Given the description of an element on the screen output the (x, y) to click on. 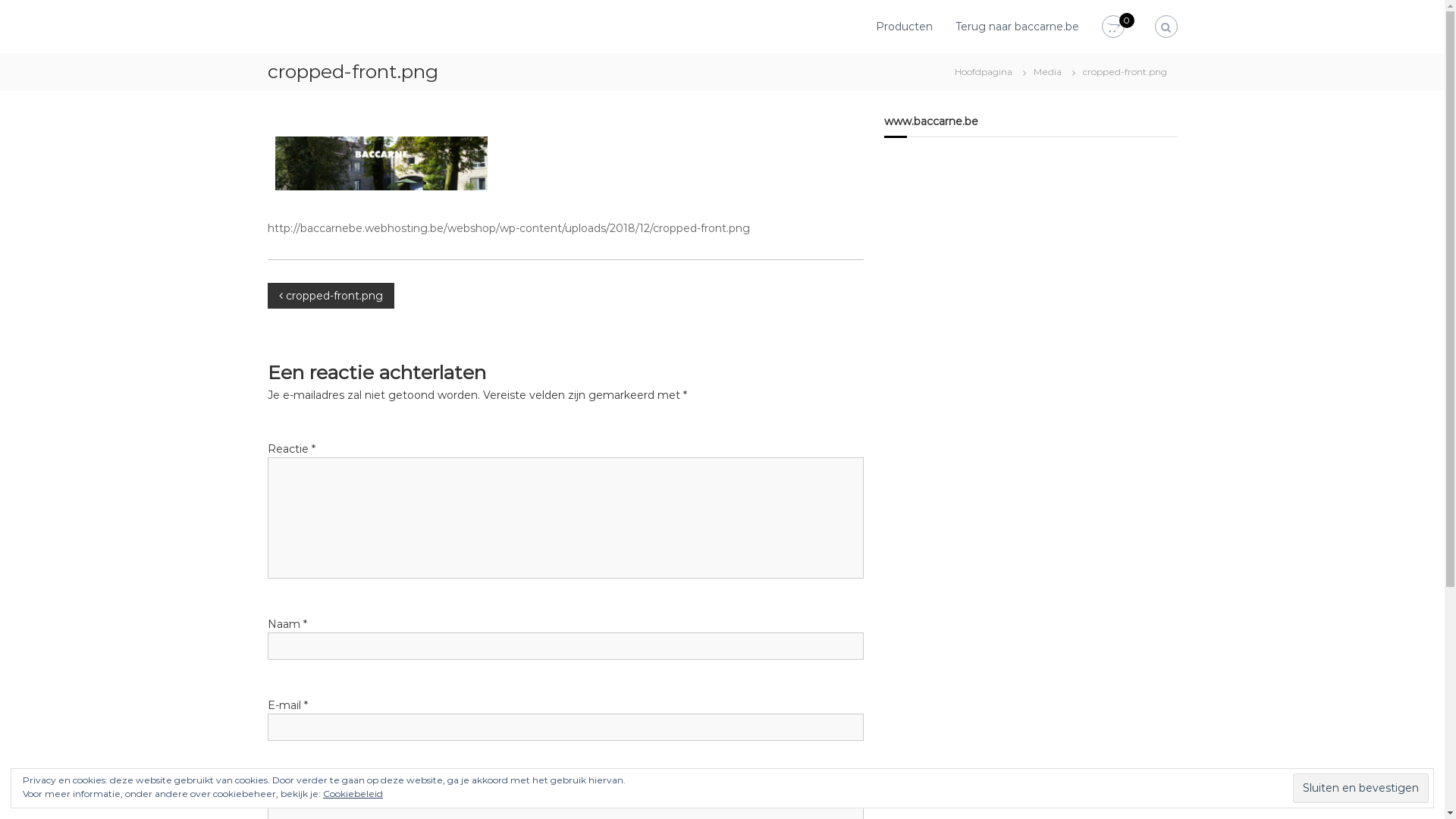
Cookiebeleid Element type: text (352, 793)
Hoofdpagina Element type: text (982, 71)
Terug naar baccarne.be Element type: text (1017, 26)
Sluiten en bevestigen Element type: text (1360, 788)
0 Element type: text (1112, 27)
Producten Element type: text (903, 26)
cropped-front.png Element type: text (329, 295)
Media Element type: text (1046, 71)
